Given the description of an element on the screen output the (x, y) to click on. 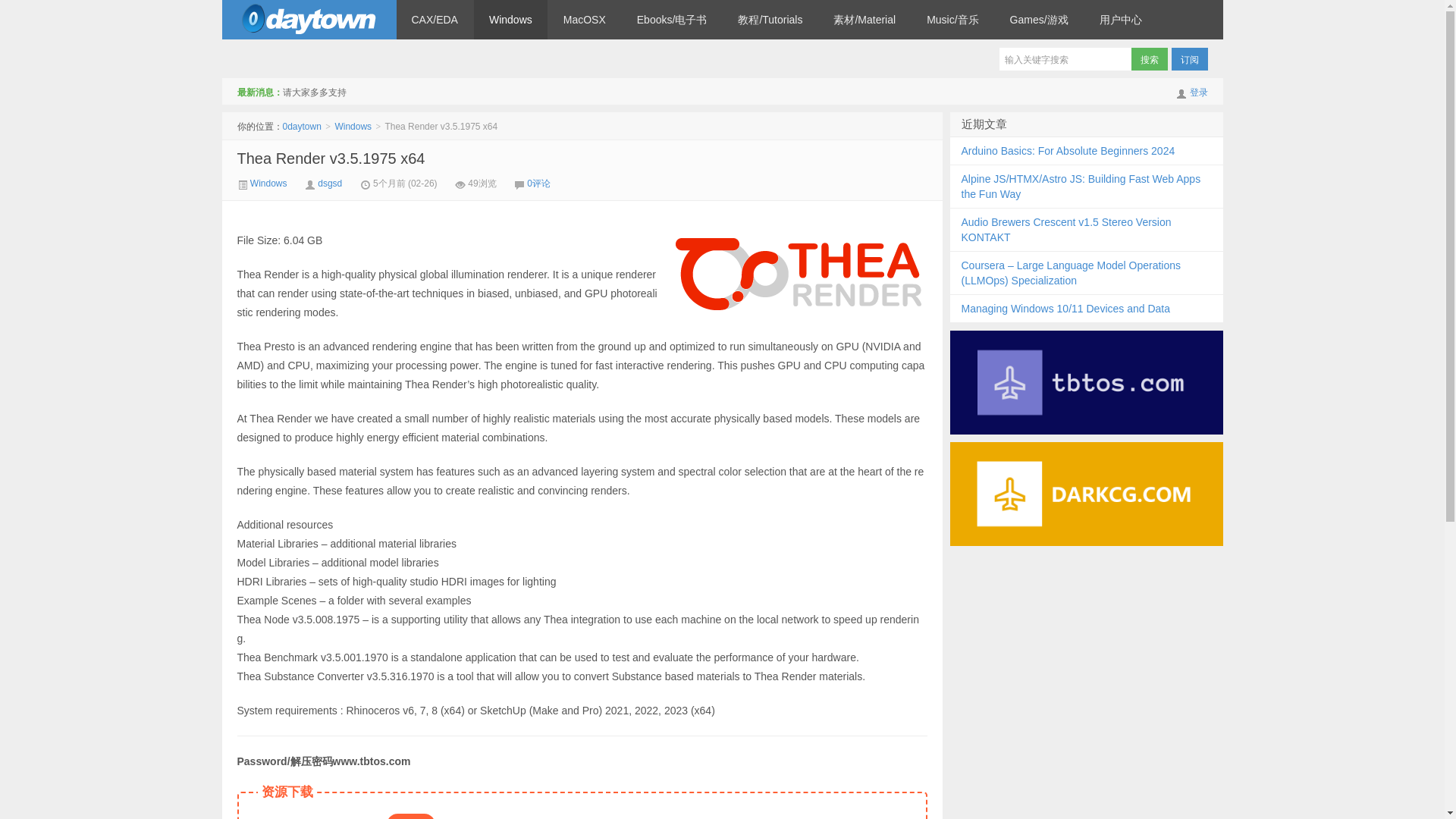
Windows (510, 19)
0daytown (308, 19)
MacOSX (584, 19)
